Given the description of an element on the screen output the (x, y) to click on. 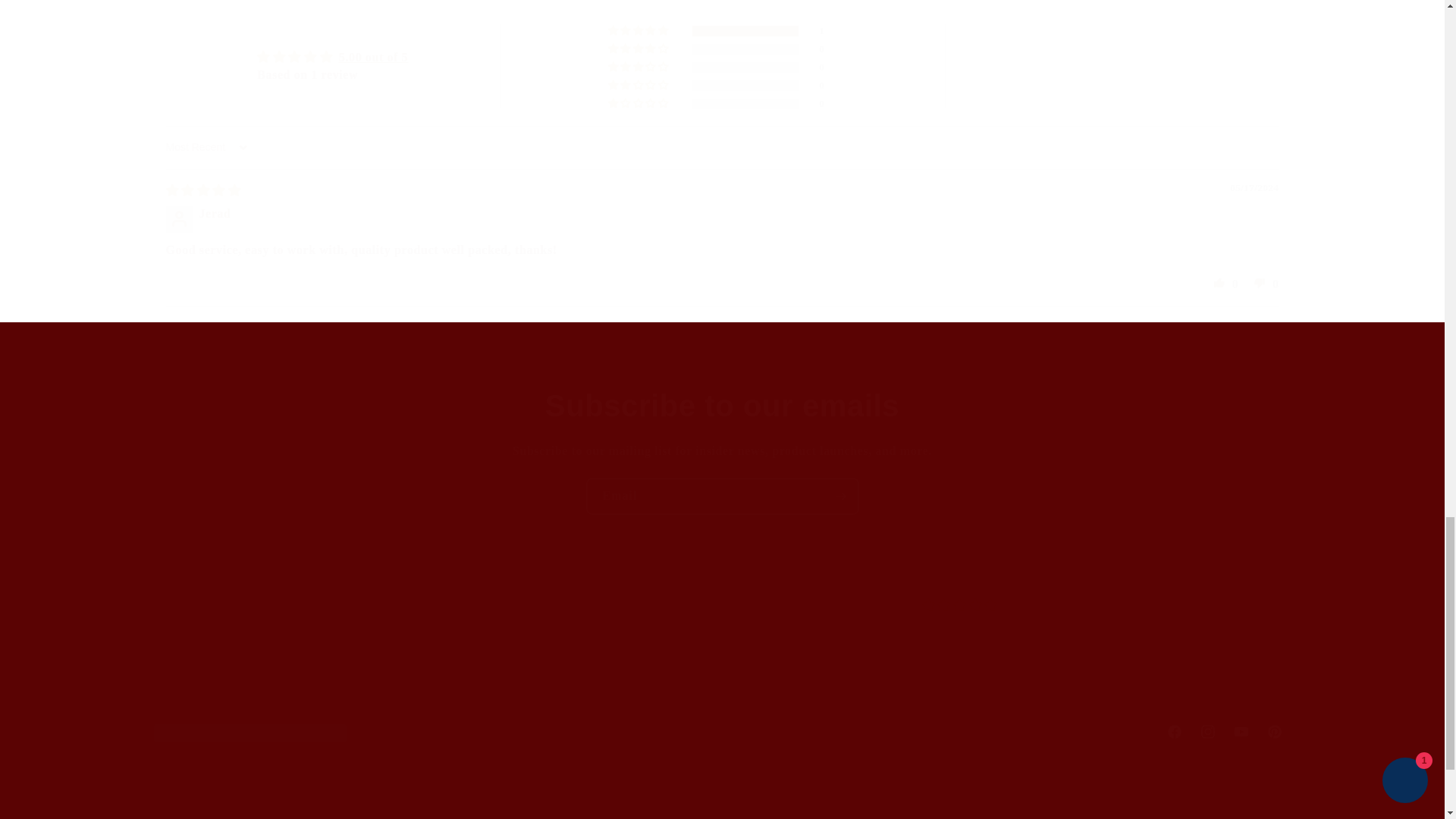
up (1219, 282)
down (721, 731)
Email (1259, 282)
Subscribe to our emails (337, 652)
